Given the description of an element on the screen output the (x, y) to click on. 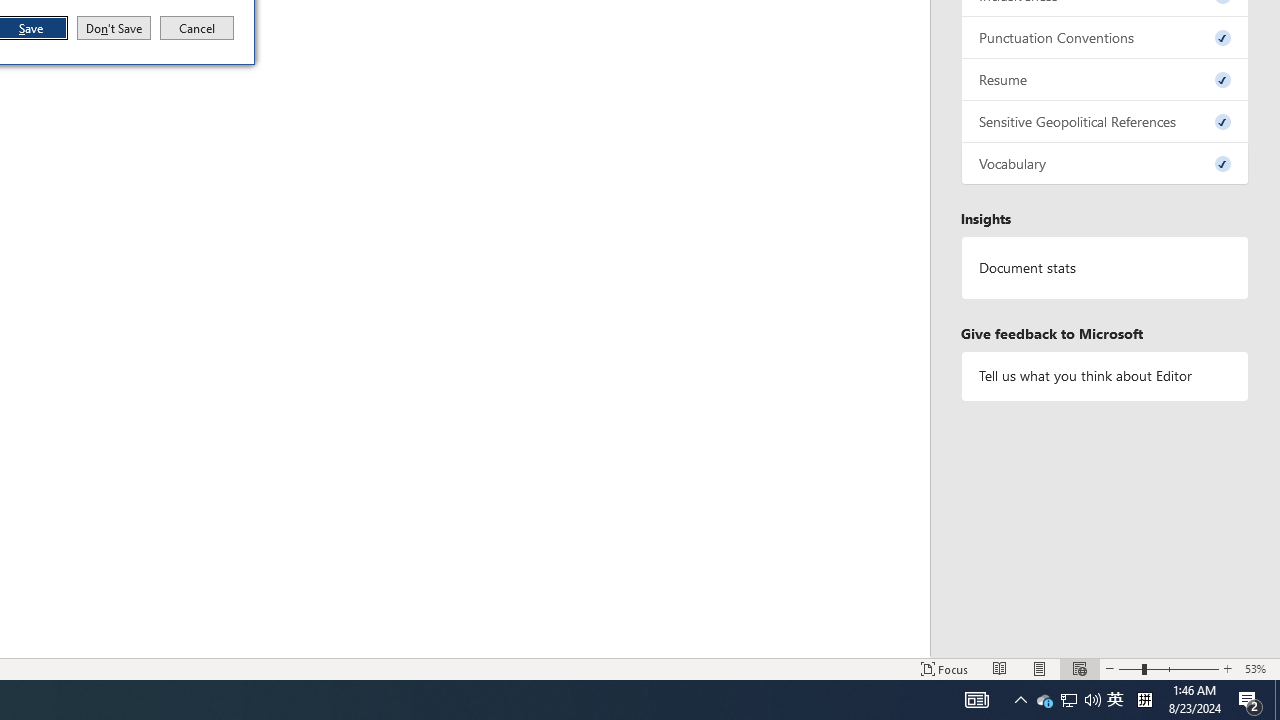
Tell us what you think about Editor (1105, 376)
Resume, 0 issues. Press space or enter to review items. (1105, 79)
Tray Input Indicator - Chinese (Simplified, China) (1115, 699)
Don't Save (1144, 699)
Cancel (113, 27)
